Given the description of an element on the screen output the (x, y) to click on. 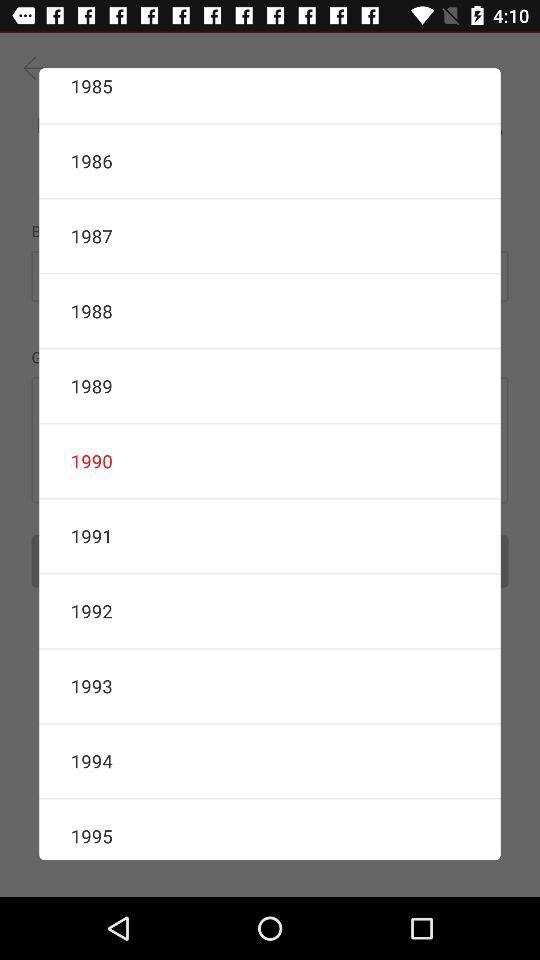
open icon below 1986 icon (269, 236)
